Given the description of an element on the screen output the (x, y) to click on. 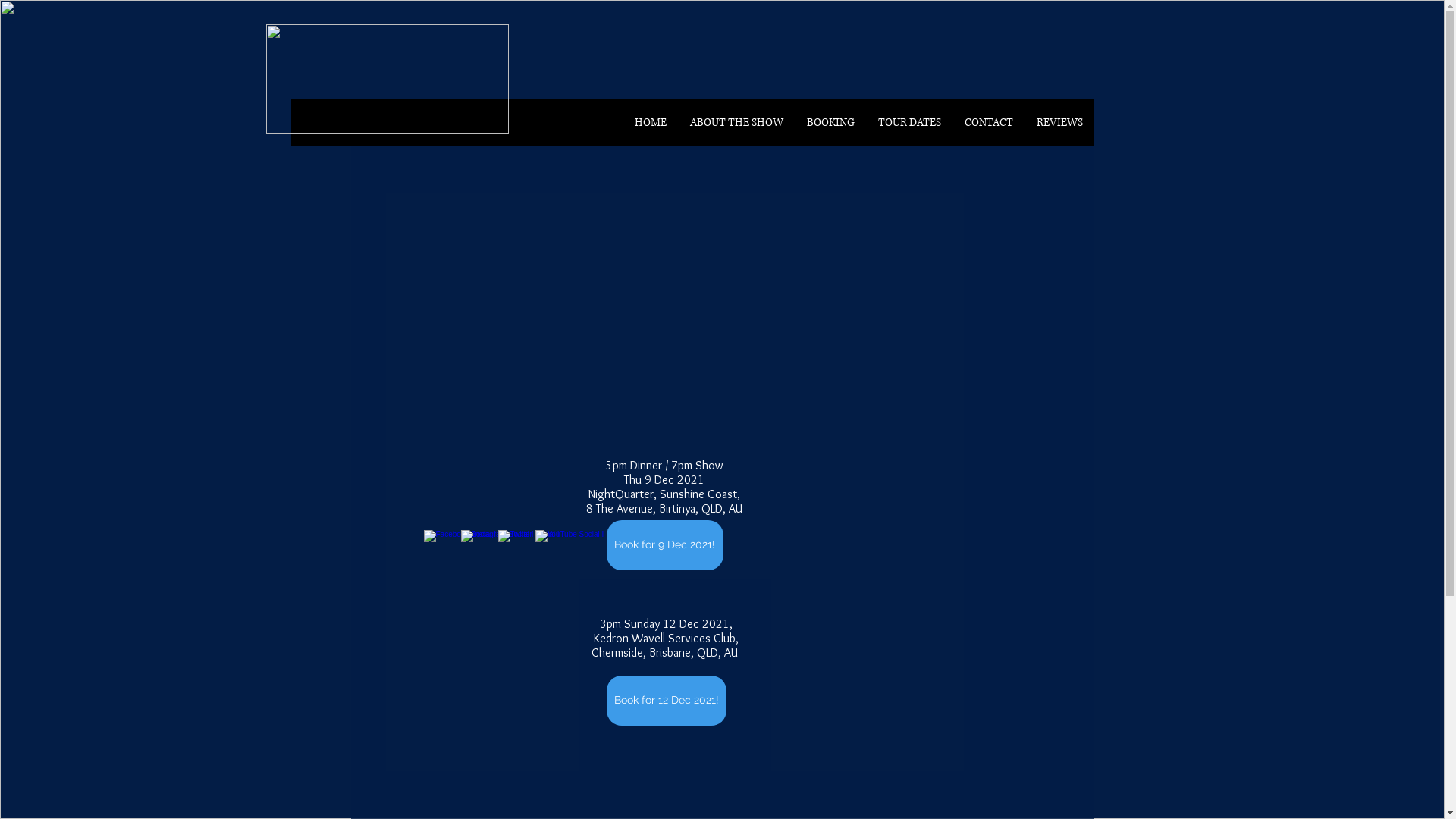
HOI logo 1.png Element type: hover (386, 79)
Book for 12 Dec 2021! Element type: text (666, 700)
Book for 9 Dec 2021! Element type: text (664, 545)
HOME Element type: text (649, 122)
External YouTube Element type: hover (682, 304)
BOOKING Element type: text (830, 122)
ABOUT THE SHOW Element type: text (735, 122)
REVIEWS Element type: text (1058, 122)
CONTACT Element type: text (988, 122)
TOUR DATES Element type: text (909, 122)
